Given the description of an element on the screen output the (x, y) to click on. 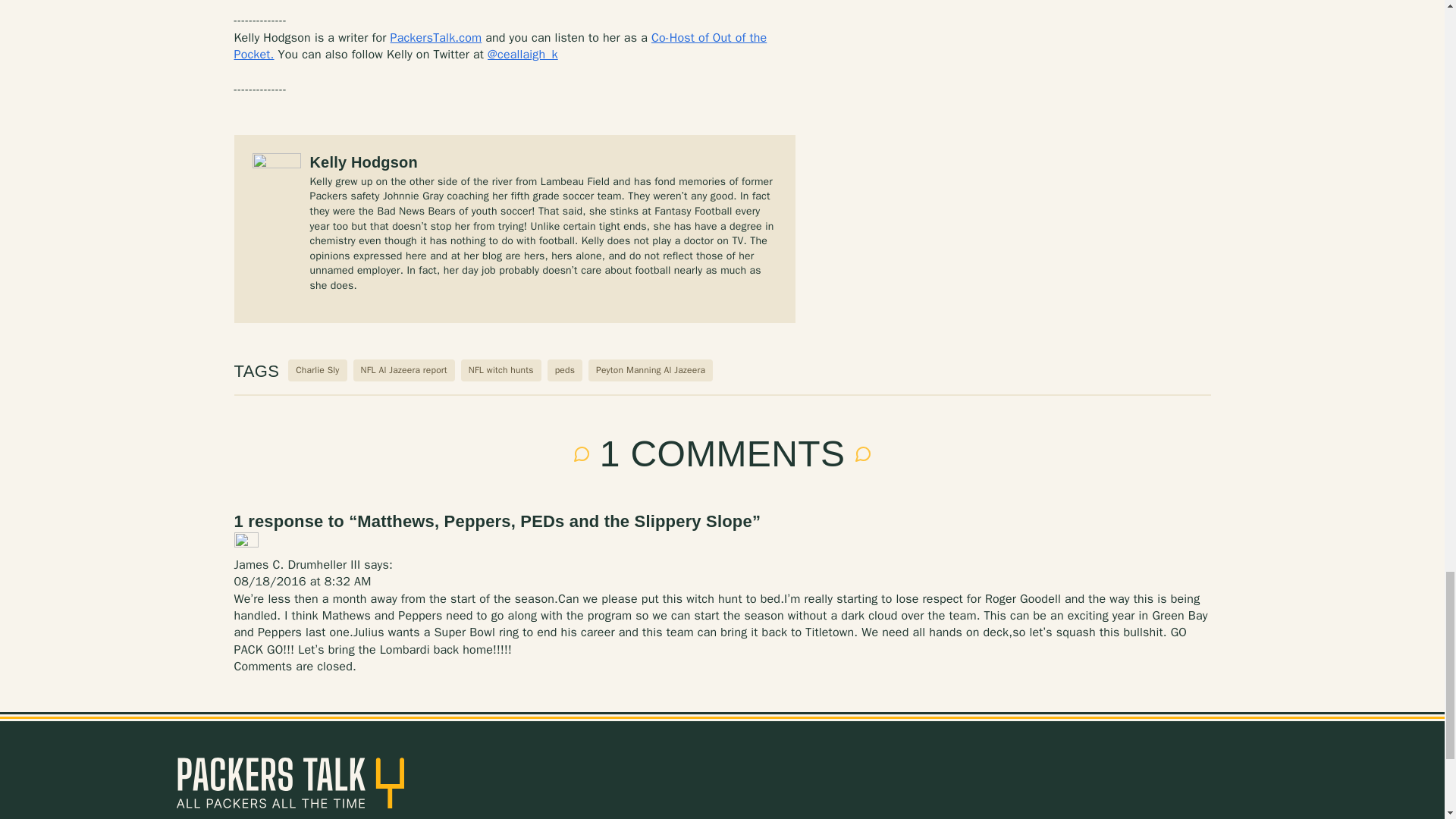
NFL witch hunts (501, 370)
PackersTalk.com Blog Posts and Podcasts (289, 783)
Co-Host of Out of the Pocket. (499, 46)
peds (564, 370)
PackersTalk.com (435, 37)
Peyton Manning Al Jazeera (650, 370)
Charlie Sly (317, 370)
NFL Al Jazeera report (403, 370)
